Given the description of an element on the screen output the (x, y) to click on. 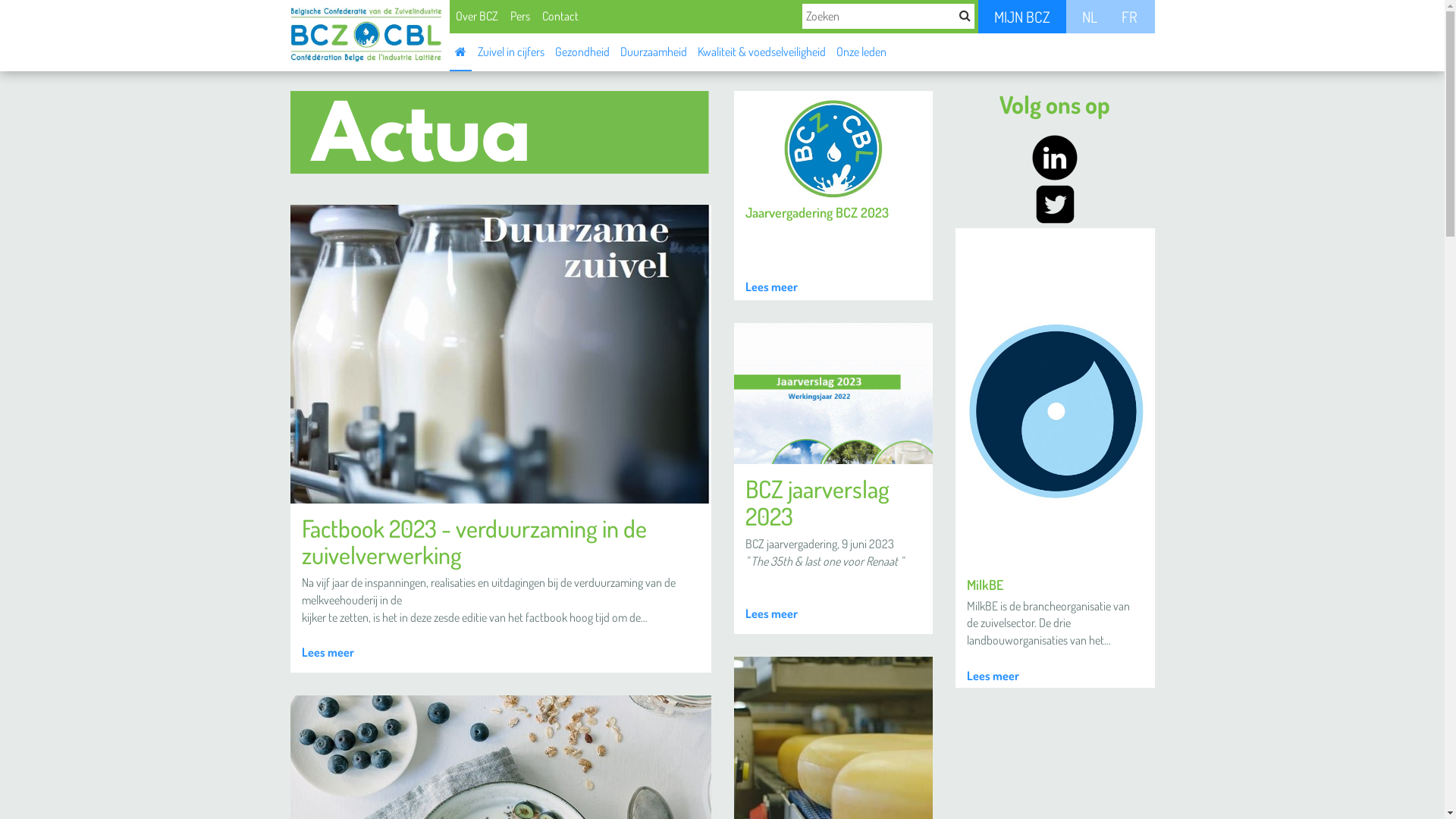
Lees meer Element type: text (327, 652)
Kwaliteit & voedselveiligheid Element type: text (760, 50)
Pers Element type: text (519, 15)
Jaarvergadering BCZ 2023
Lees meer Element type: text (833, 195)
Gezondheid Element type: text (581, 50)
Contact Element type: text (559, 15)
NL Element type: text (1089, 16)
Lees meer Element type: text (770, 613)
BCZ jaarverslag 2023 Element type: text (816, 501)
Factbook 2023 - verduurzaming in de zuivelverwerking Element type: text (473, 541)
FR Element type: text (1128, 16)
MIJN BCZ Element type: text (1022, 16)
Duurzaamheid Element type: text (652, 50)
Over BCZ Element type: text (475, 15)
Zuivel in cijfers Element type: text (510, 50)
Onze leden Element type: text (861, 50)
